Given the description of an element on the screen output the (x, y) to click on. 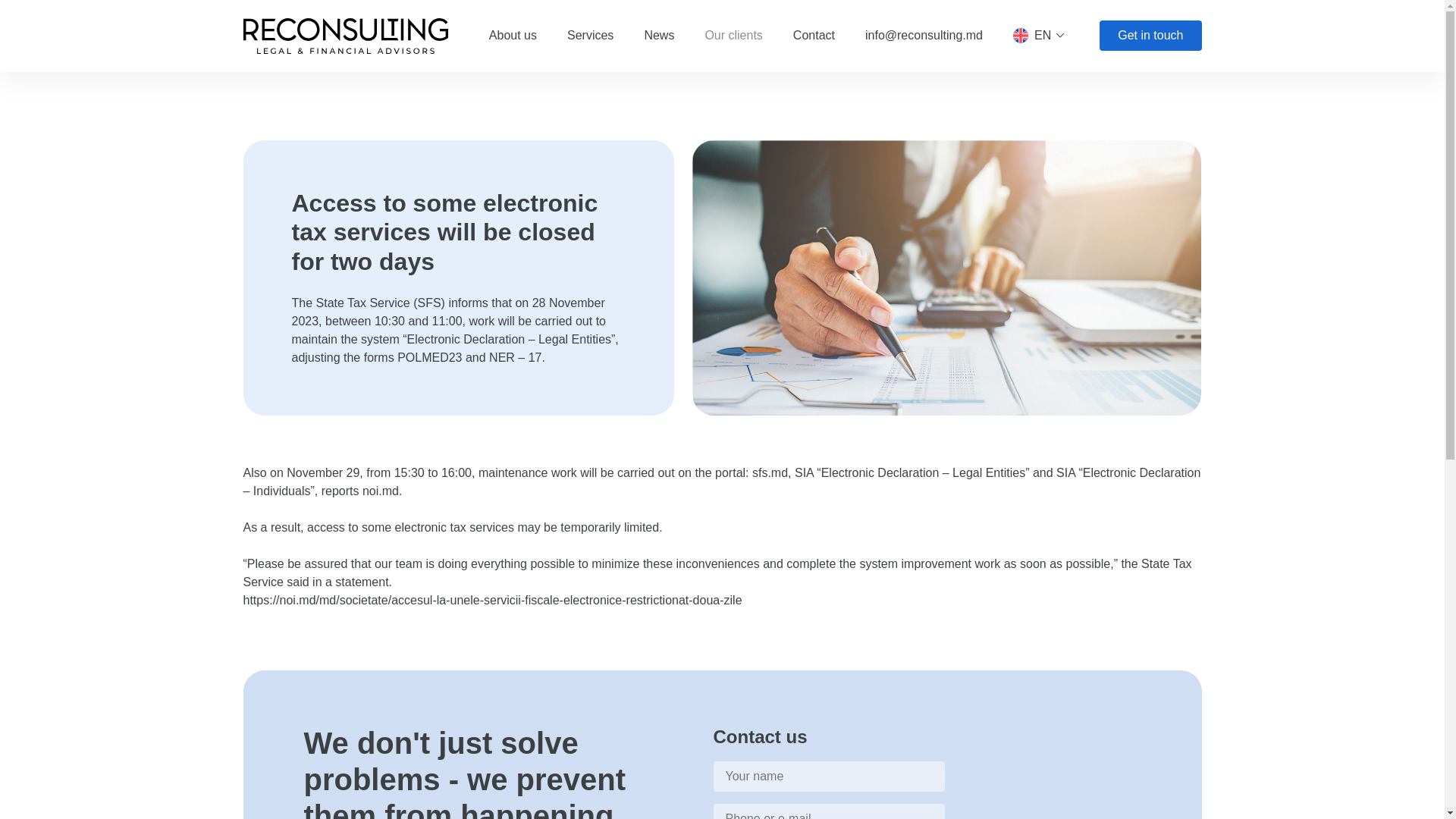
Our clients (732, 35)
News (658, 34)
EN (1040, 35)
Contact (813, 34)
Services (589, 34)
Get in touch (1150, 35)
About us (512, 34)
